Given the description of an element on the screen output the (x, y) to click on. 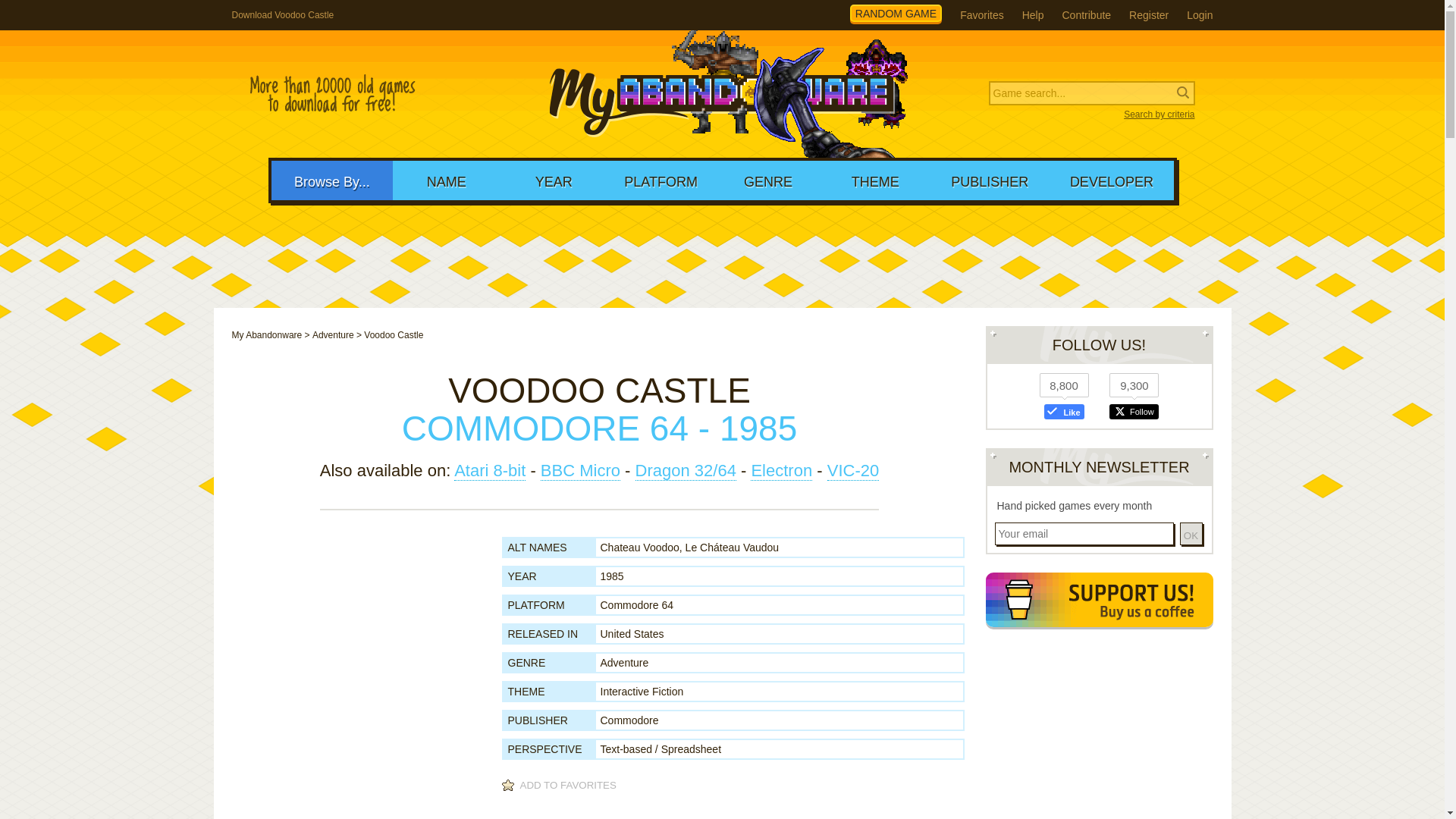
search (98, 12)
Browse games of this theme (641, 691)
Help (1032, 14)
Commodore 64 (636, 604)
Browse games of this genre (624, 662)
Login MAW (1199, 14)
GENRE (767, 179)
RANDOM GAME (896, 13)
Commodore (629, 720)
PLATFORM (660, 179)
YEAR (553, 179)
THEME (875, 179)
NAME (446, 179)
Contribute (1085, 14)
PUBLISHER (989, 179)
